Given the description of an element on the screen output the (x, y) to click on. 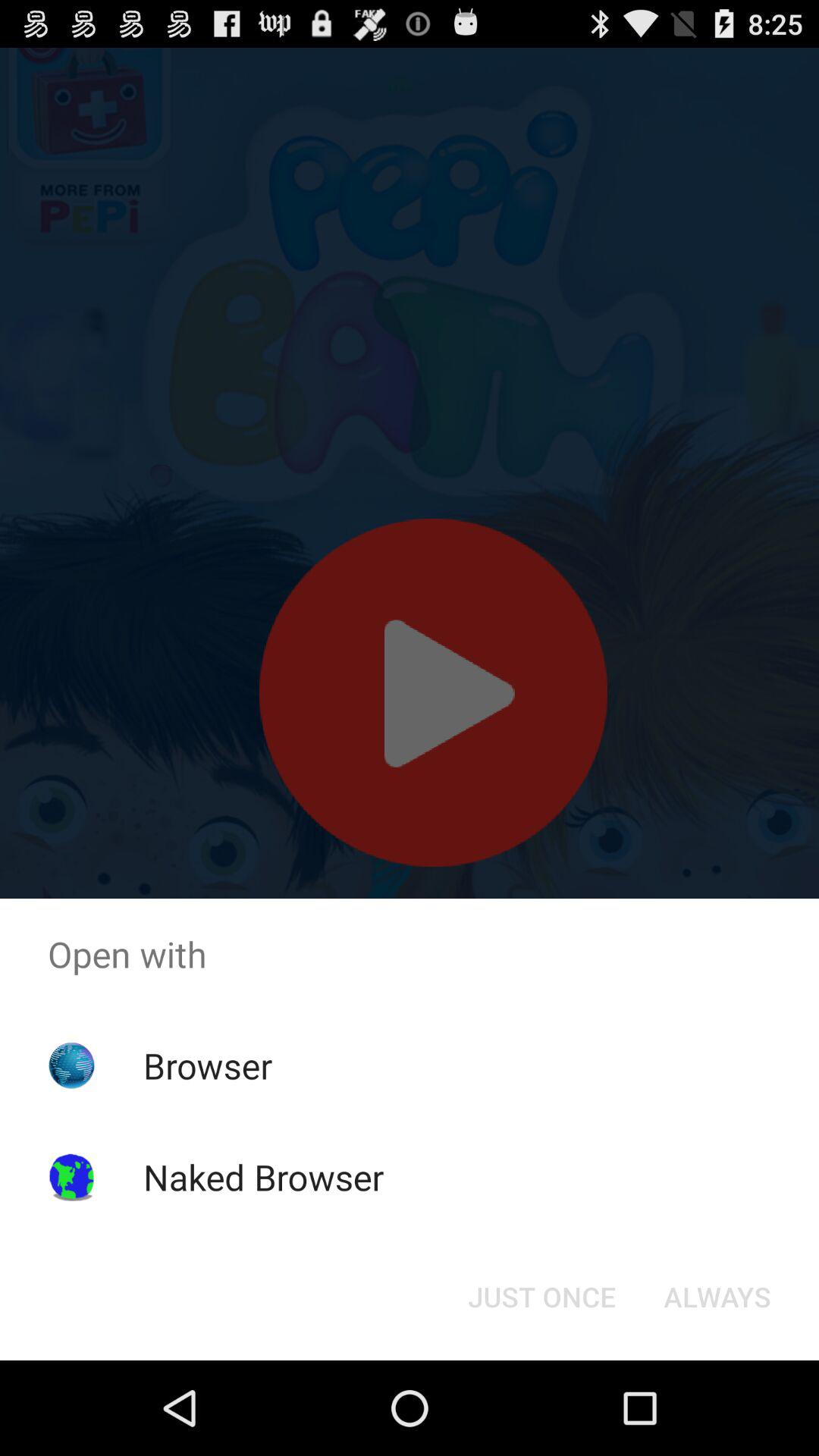
flip until the just once item (541, 1296)
